Given the description of an element on the screen output the (x, y) to click on. 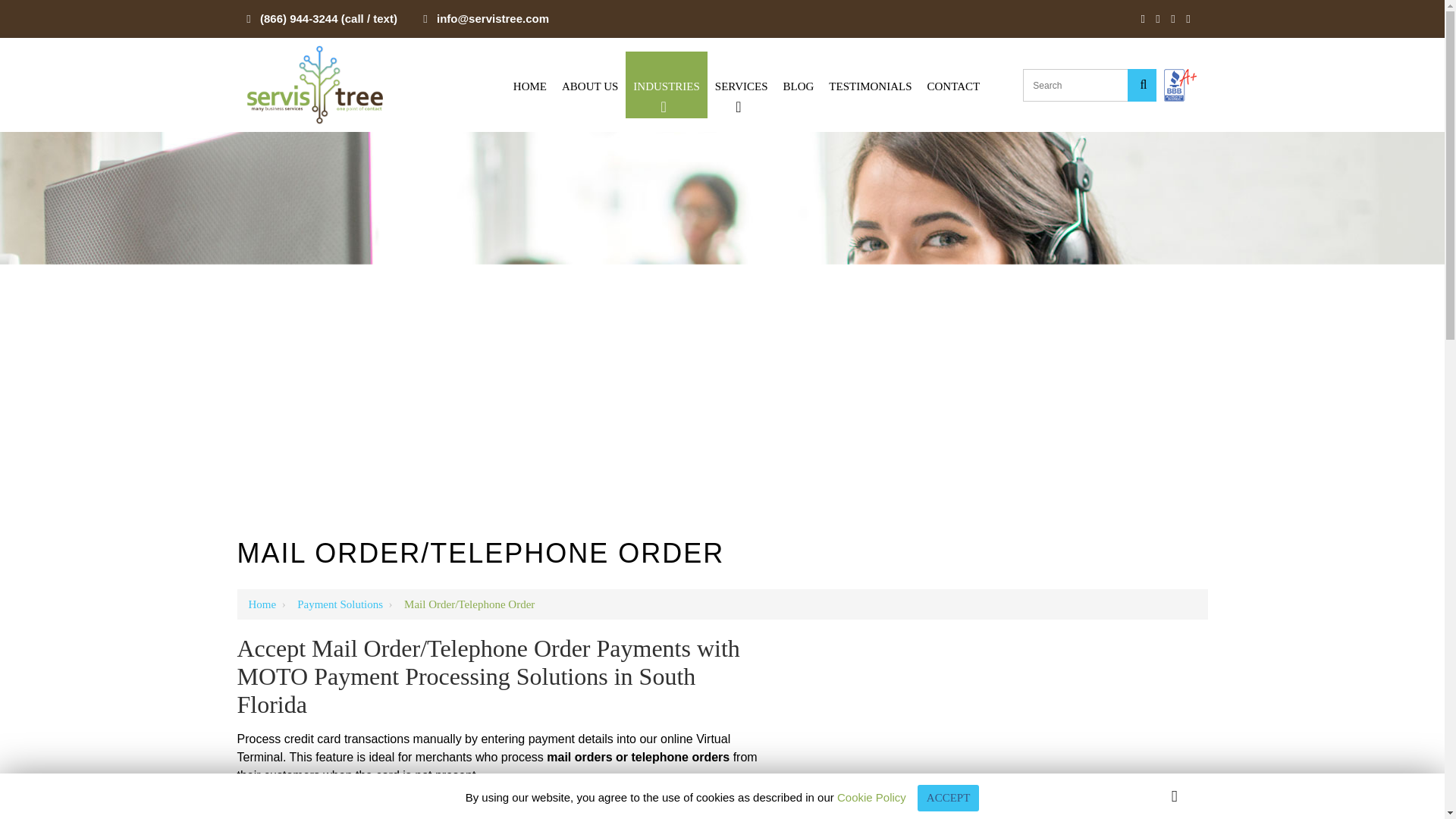
INDUSTRIES (666, 84)
ABOUT US (590, 84)
TESTIMONIALS (869, 84)
SERVICES (741, 84)
